Given the description of an element on the screen output the (x, y) to click on. 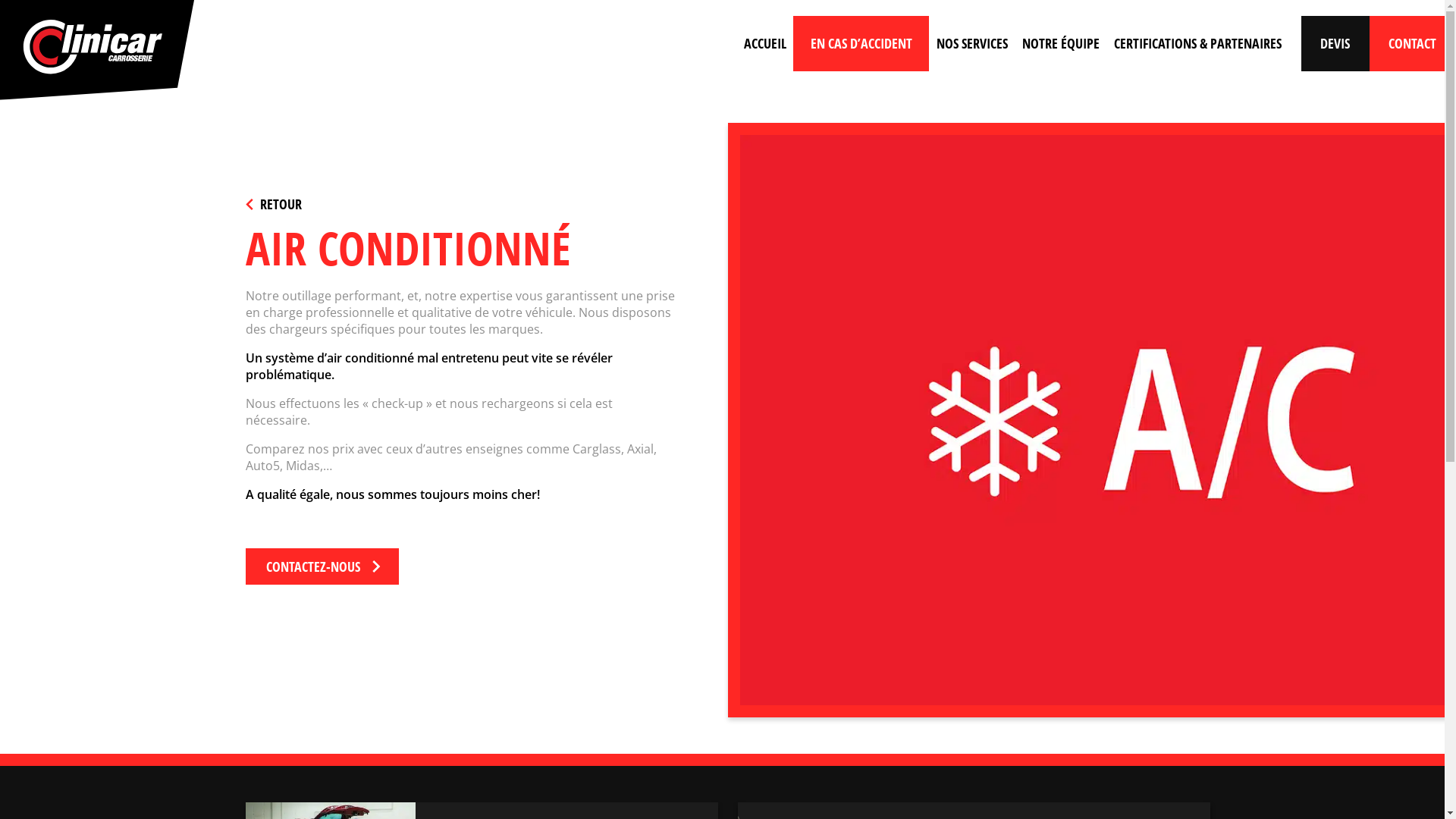
ACCUEIL Element type: text (764, 43)
DEVIS Element type: text (1335, 43)
CERTIFICATIONS & PARTENAIRES Element type: text (1197, 43)
RETOUR Element type: text (273, 203)
CONTACTEZ-NOUS Element type: text (321, 566)
NOS SERVICES Element type: text (971, 43)
